Given the description of an element on the screen output the (x, y) to click on. 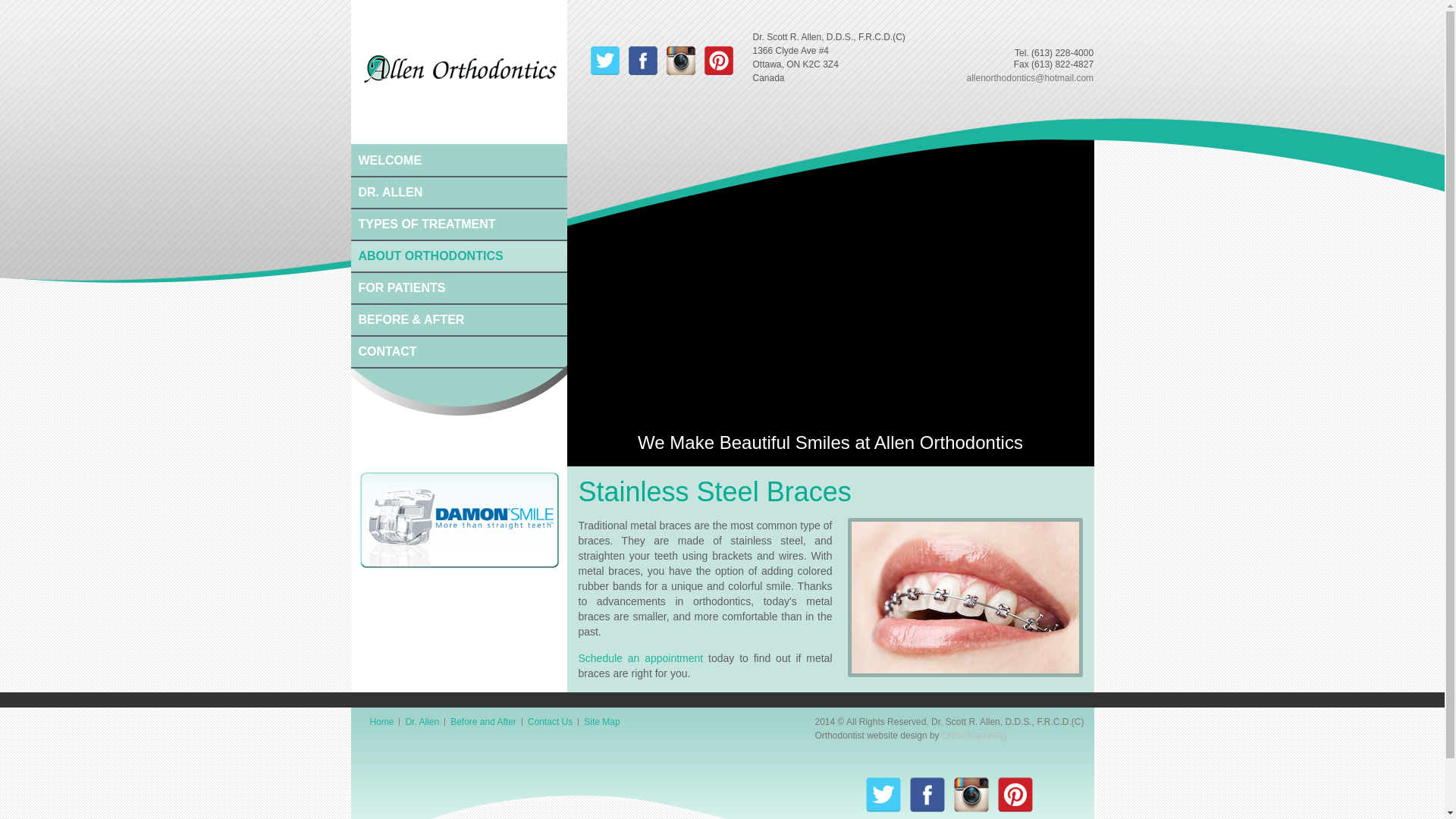
Ortho Marketing Element type: text (974, 735)
BEFORE & AFTER Element type: text (458, 317)
ABOUT ORTHODONTICS Element type: text (458, 254)
Home Element type: text (381, 721)
DR. ALLEN Element type: text (458, 190)
TYPES OF TREATMENT Element type: text (458, 222)
Contact Us Element type: text (549, 721)
CONTACT Element type: text (458, 349)
Site Map Element type: text (601, 721)
WELCOME Element type: text (458, 158)
FOR PATIENTS Element type: text (458, 286)
Schedule an appointment Element type: text (639, 658)
Before and After Element type: text (483, 721)
Dr. Allen Element type: text (421, 721)
allenorthodontics@hotmail.com Element type: text (1029, 77)
